Given the description of an element on the screen output the (x, y) to click on. 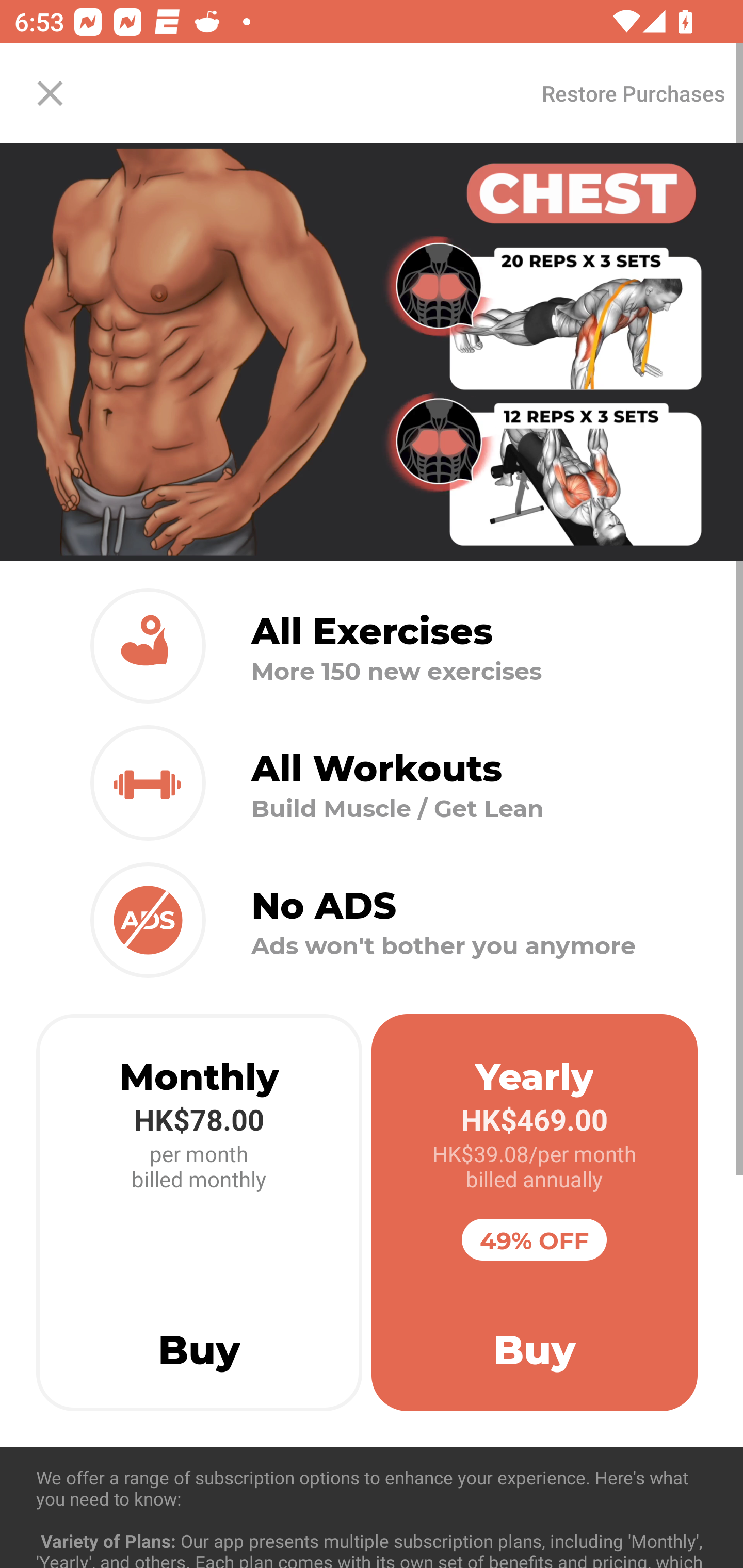
Restore Purchases (632, 92)
Monthly HK$78.00 per month
billed monthly Buy (199, 1212)
